Given the description of an element on the screen output the (x, y) to click on. 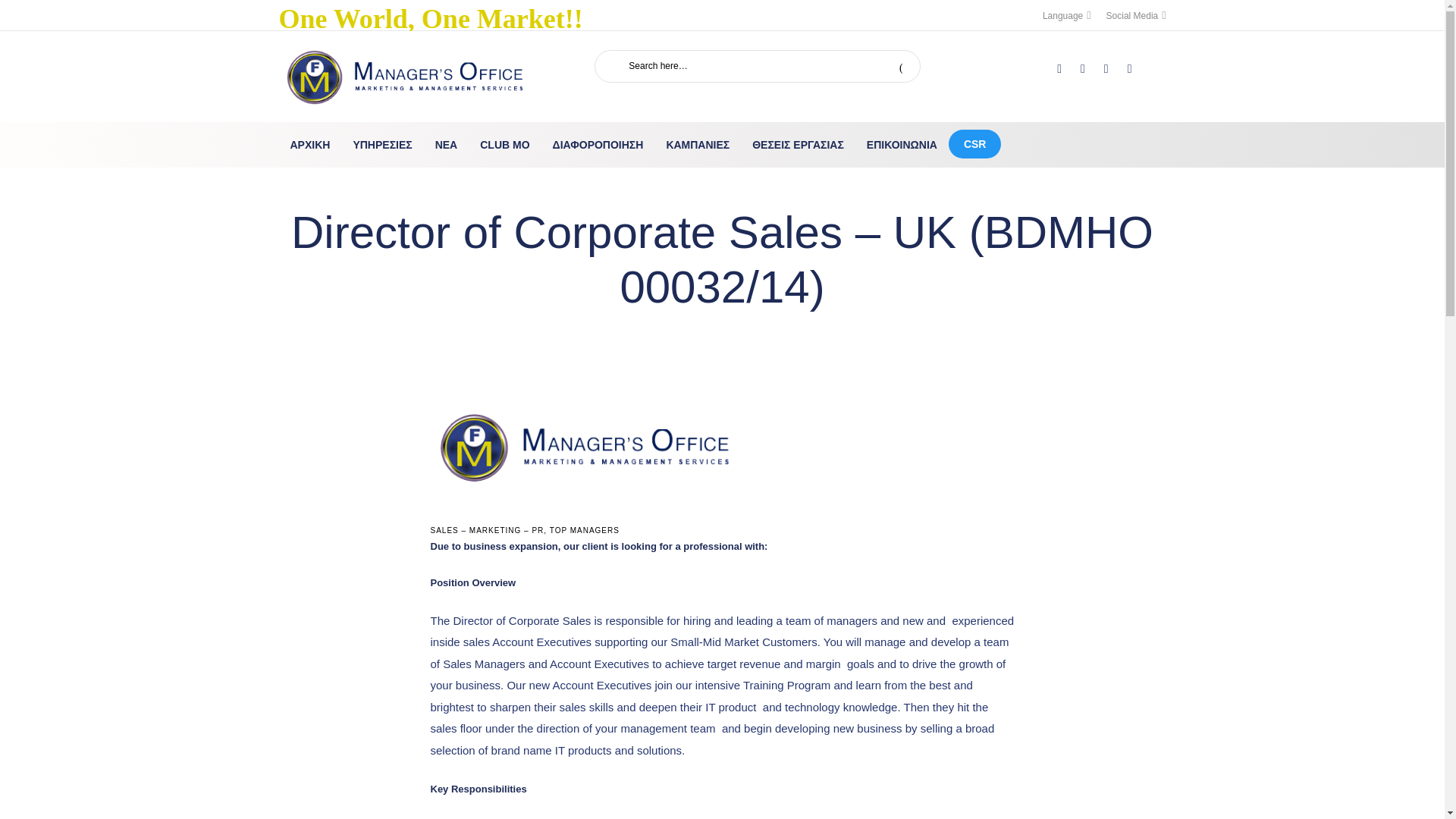
Social Media (1136, 15)
Language (1066, 15)
Search for: (739, 65)
